Given the description of an element on the screen output the (x, y) to click on. 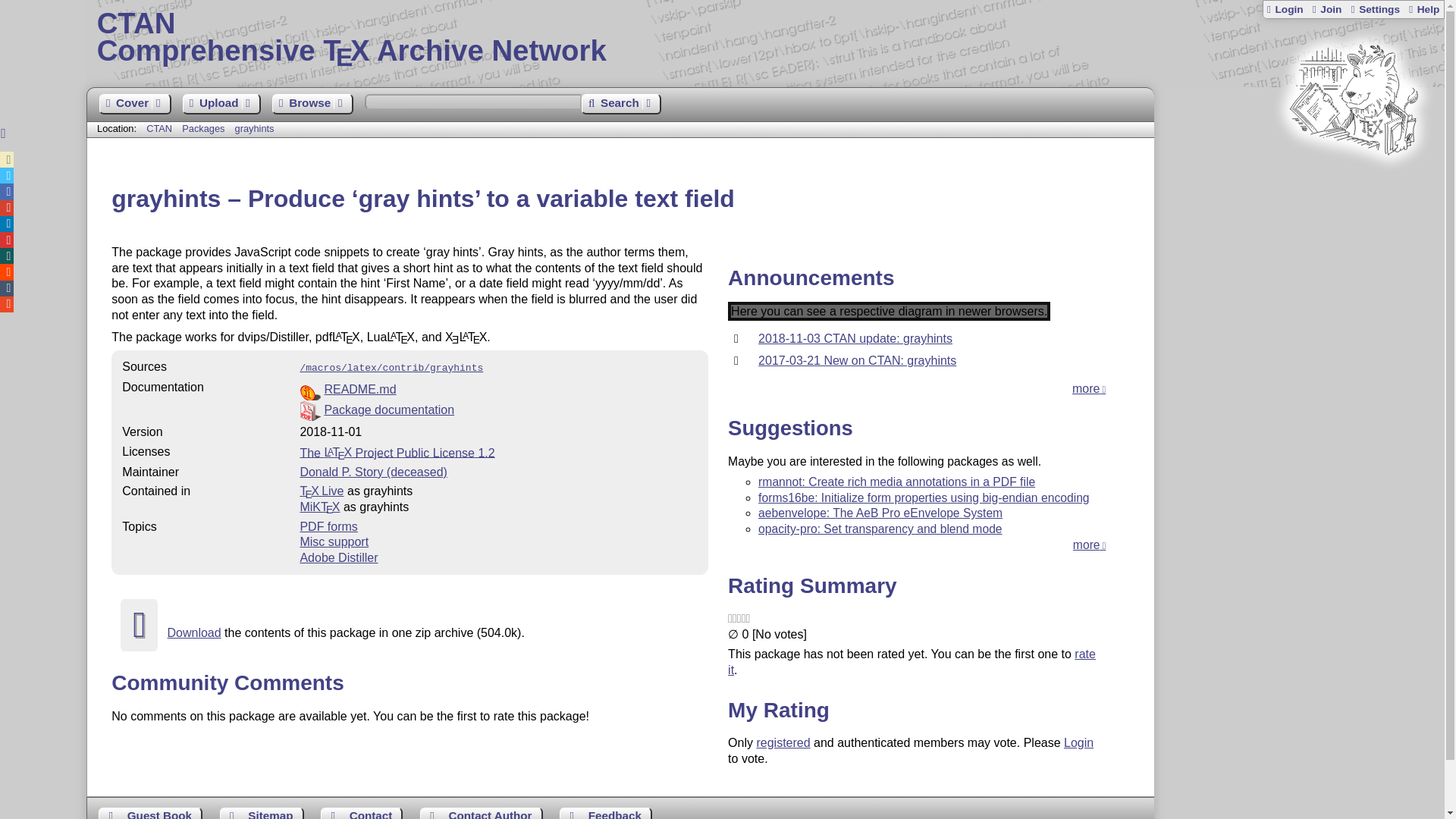
Cover (134, 104)
MiKTEX (319, 506)
Search (620, 104)
Spectrum indicating the announcements for the package (888, 311)
Register a new personal account on this site (1325, 8)
The LATEX Project Public License 1.2 (397, 451)
Packages (204, 128)
Join (1325, 8)
Browse (312, 104)
CTAN (159, 128)
